Given the description of an element on the screen output the (x, y) to click on. 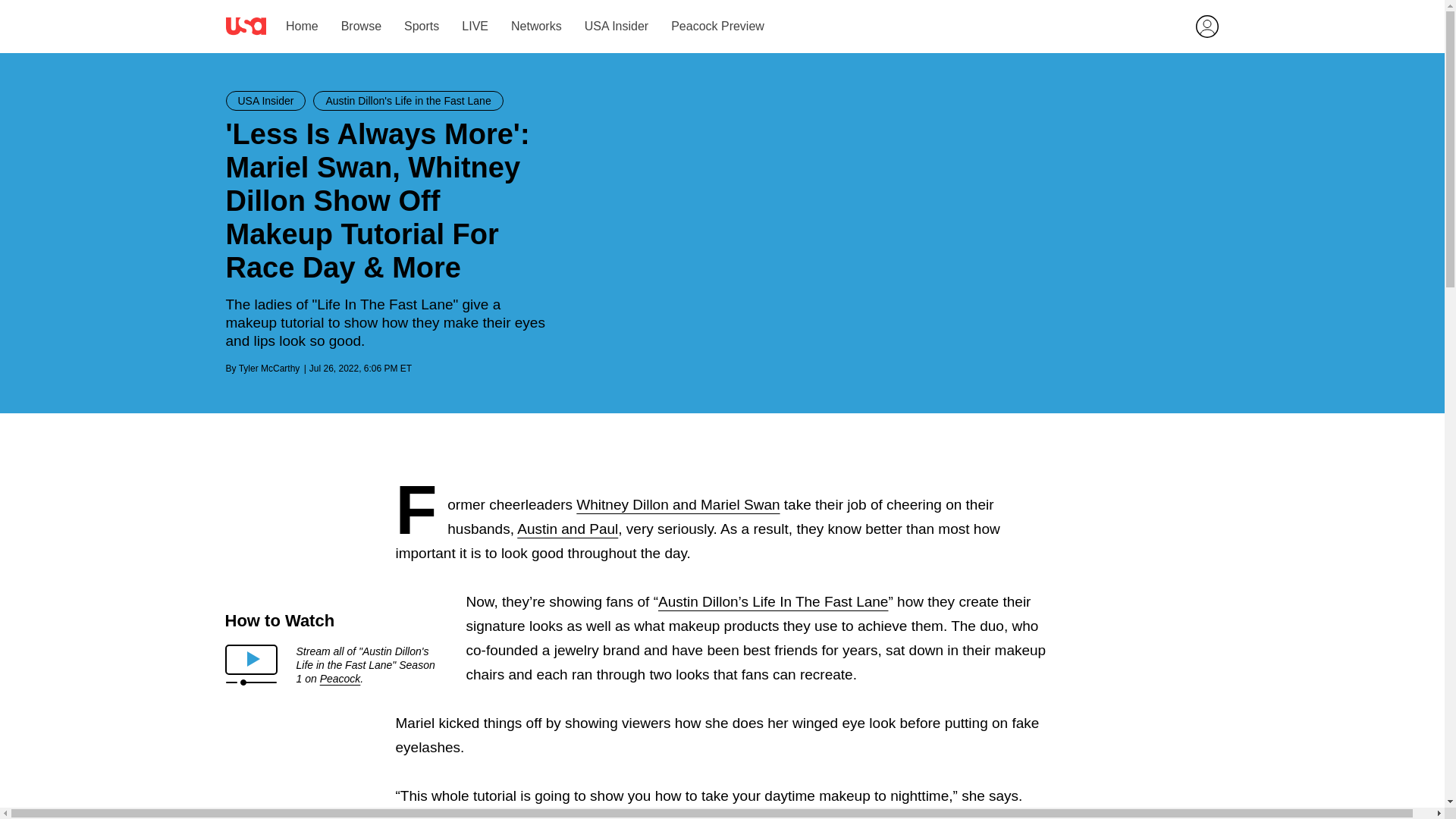
Austin and Paul (566, 528)
USA (245, 26)
Tyler McCarthy (268, 368)
Peacock Preview (717, 26)
Austin Dillon's Life in the Fast Lane (407, 100)
Home (301, 26)
LIVE (474, 26)
Whitney Dillon and Mariel Swan (677, 504)
USA Insider (265, 100)
Peacock (340, 678)
USA Insider (615, 26)
Sports (421, 26)
Browse (360, 26)
